Given the description of an element on the screen output the (x, y) to click on. 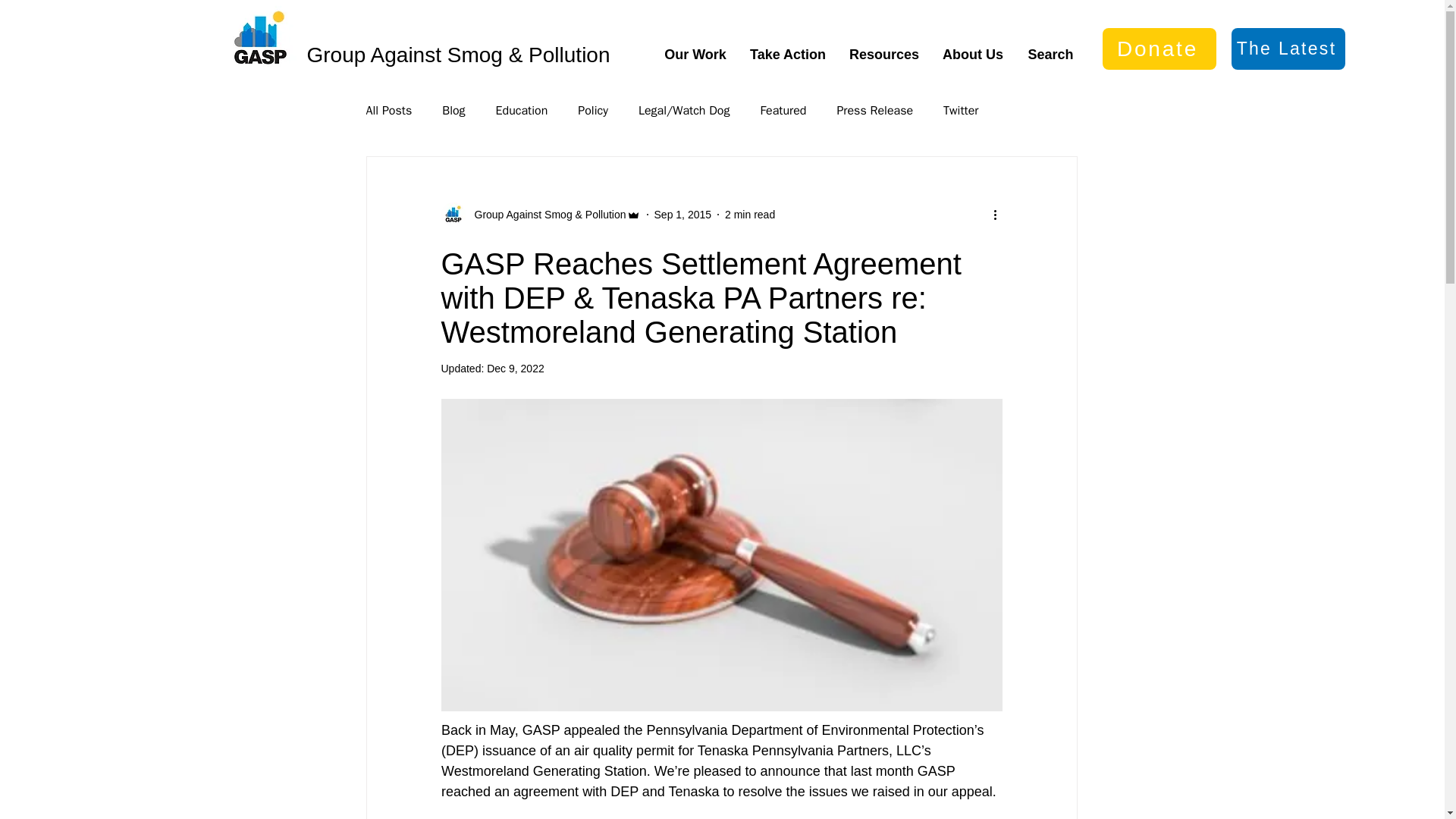
Search (1050, 54)
Donate (1158, 48)
Press Release (873, 110)
Education (522, 110)
Policy (593, 110)
All Posts (388, 110)
The Latest (1288, 48)
Dec 9, 2022 (515, 368)
Sep 1, 2015 (682, 214)
2 min read (749, 214)
Blog (453, 110)
About Us (972, 54)
Featured (783, 110)
Take Action (788, 54)
Twitter (960, 110)
